Given the description of an element on the screen output the (x, y) to click on. 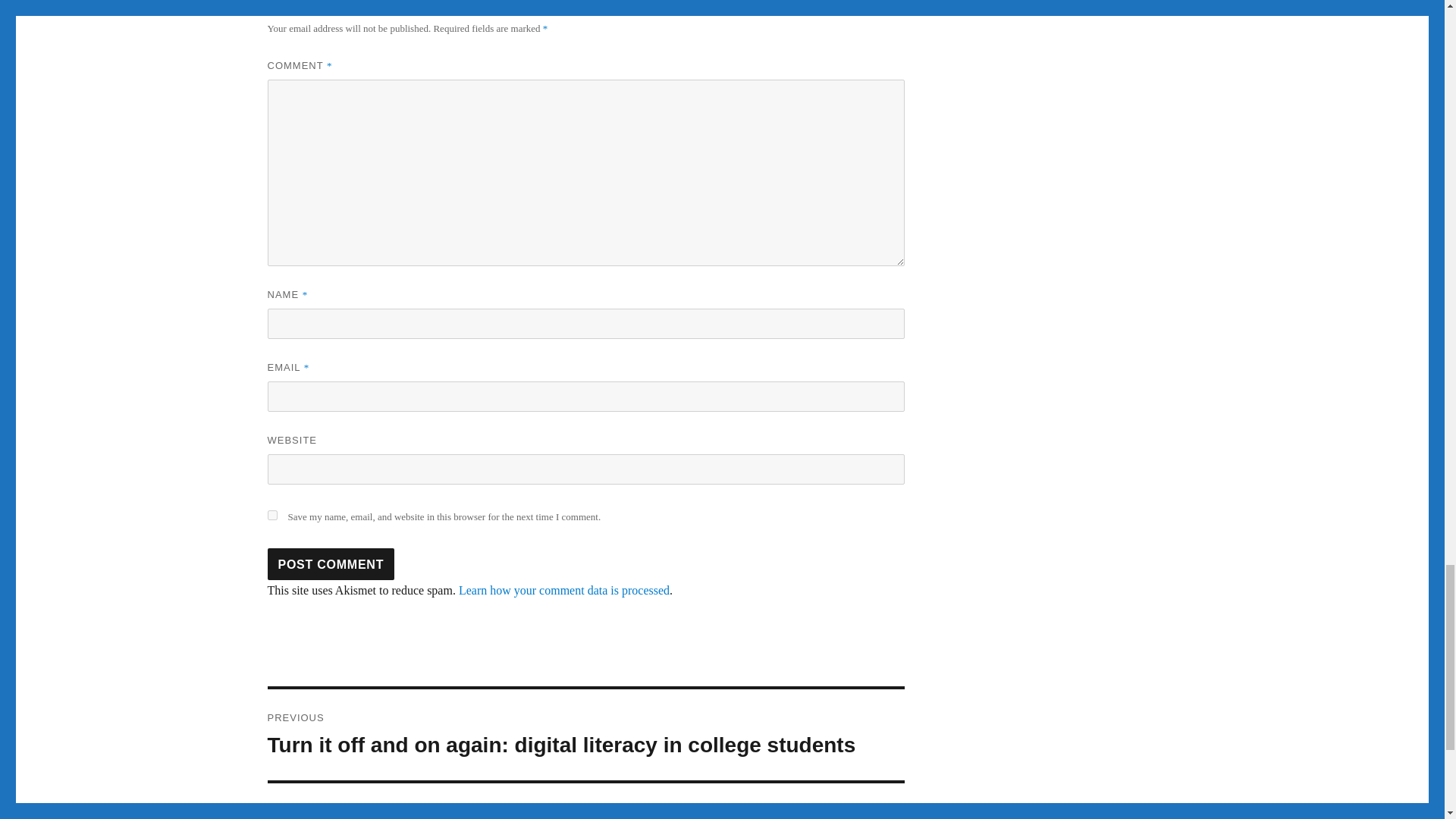
Post Comment (330, 563)
Learn how your comment data is processed (563, 590)
Post Comment (330, 563)
yes (271, 515)
